Given the description of an element on the screen output the (x, y) to click on. 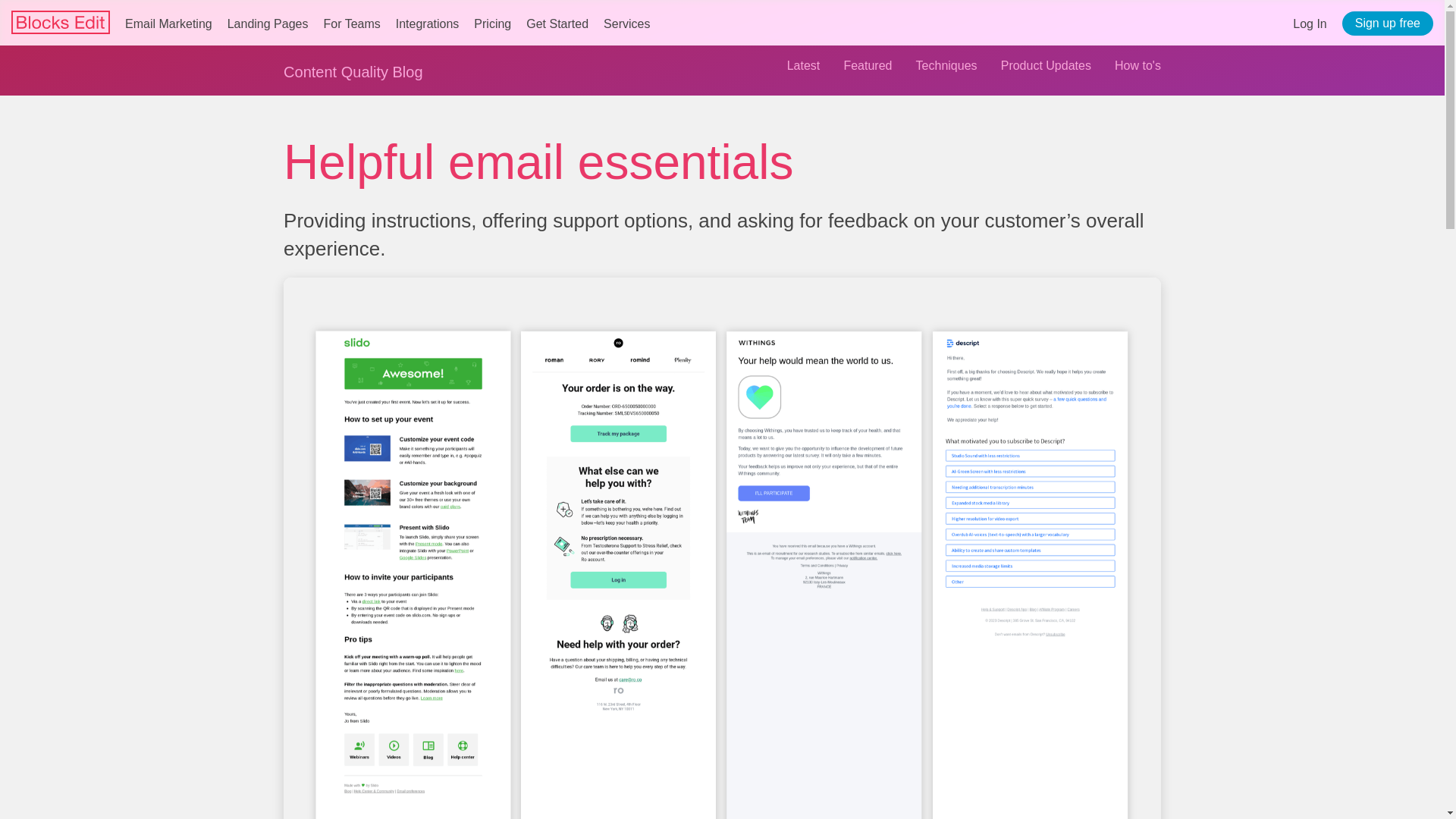
Services (626, 23)
How to's (1137, 65)
Sign up free (1387, 23)
Get Started (556, 23)
Featured (867, 65)
Techniques (945, 65)
Product Updates (1045, 65)
Landing Pages (267, 23)
Log In (1309, 23)
For Teams (351, 23)
